Given the description of an element on the screen output the (x, y) to click on. 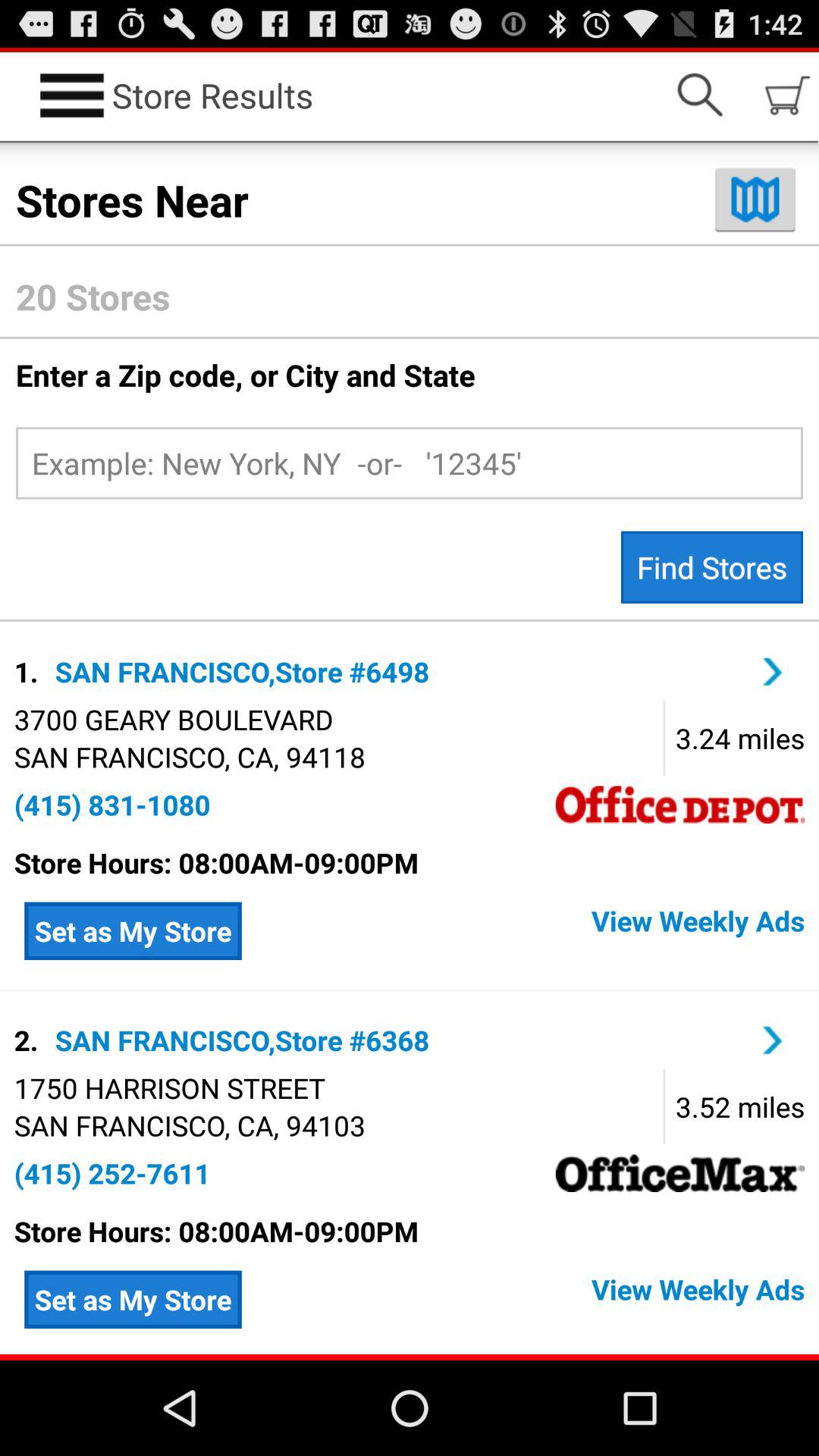
press the icon above san francisco ca icon (173, 719)
